Given the description of an element on the screen output the (x, y) to click on. 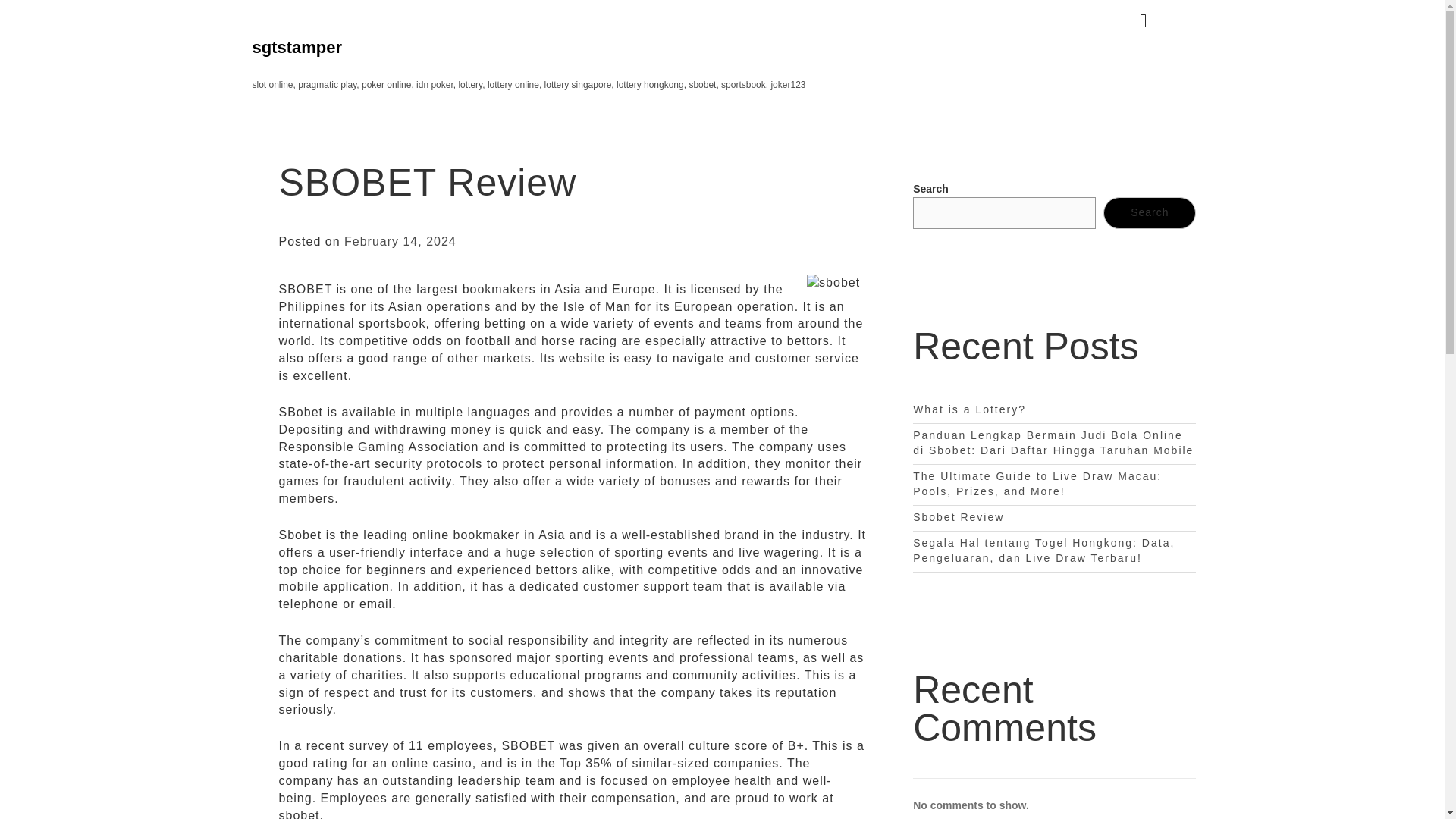
Search (1149, 213)
February 14, 2024 (400, 241)
Sbobet Review (958, 517)
sgtstamper (296, 46)
What is a Lottery? (969, 409)
